Given the description of an element on the screen output the (x, y) to click on. 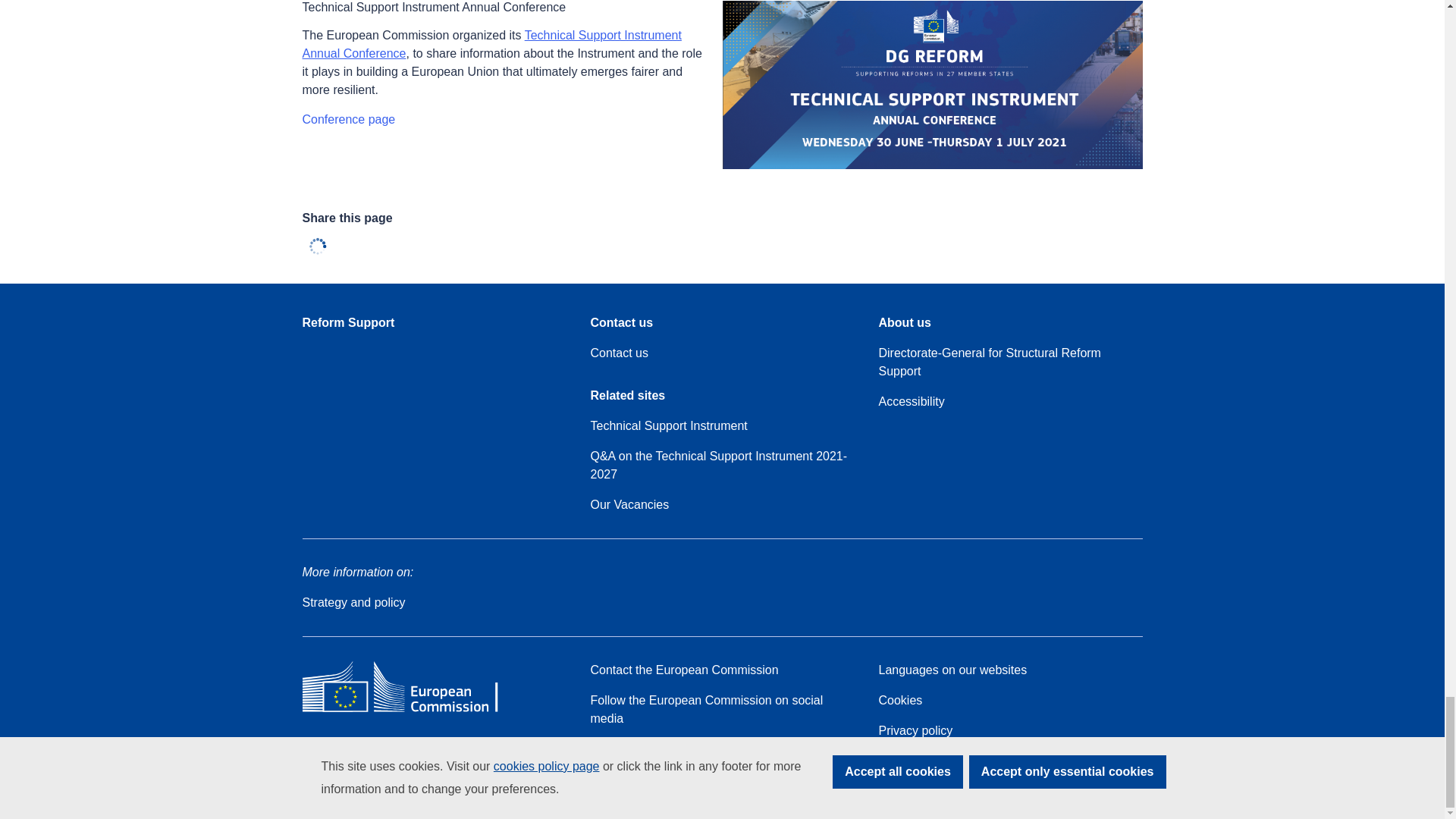
European Commission (411, 711)
